Given the description of an element on the screen output the (x, y) to click on. 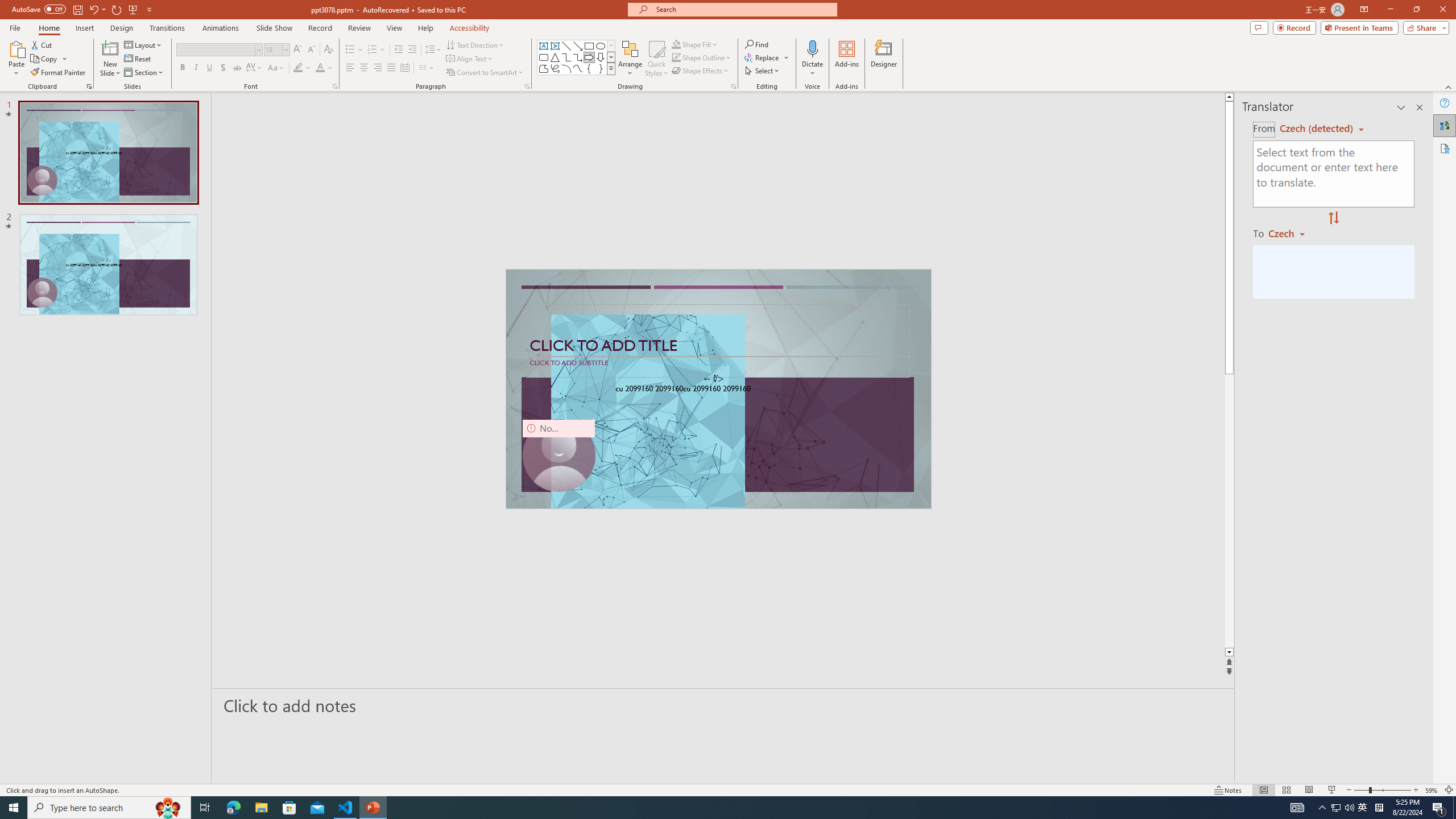
Zoom 59% (1431, 790)
Swap "from" and "to" languages. (1333, 218)
Vertical Text Box (554, 45)
